Given the description of an element on the screen output the (x, y) to click on. 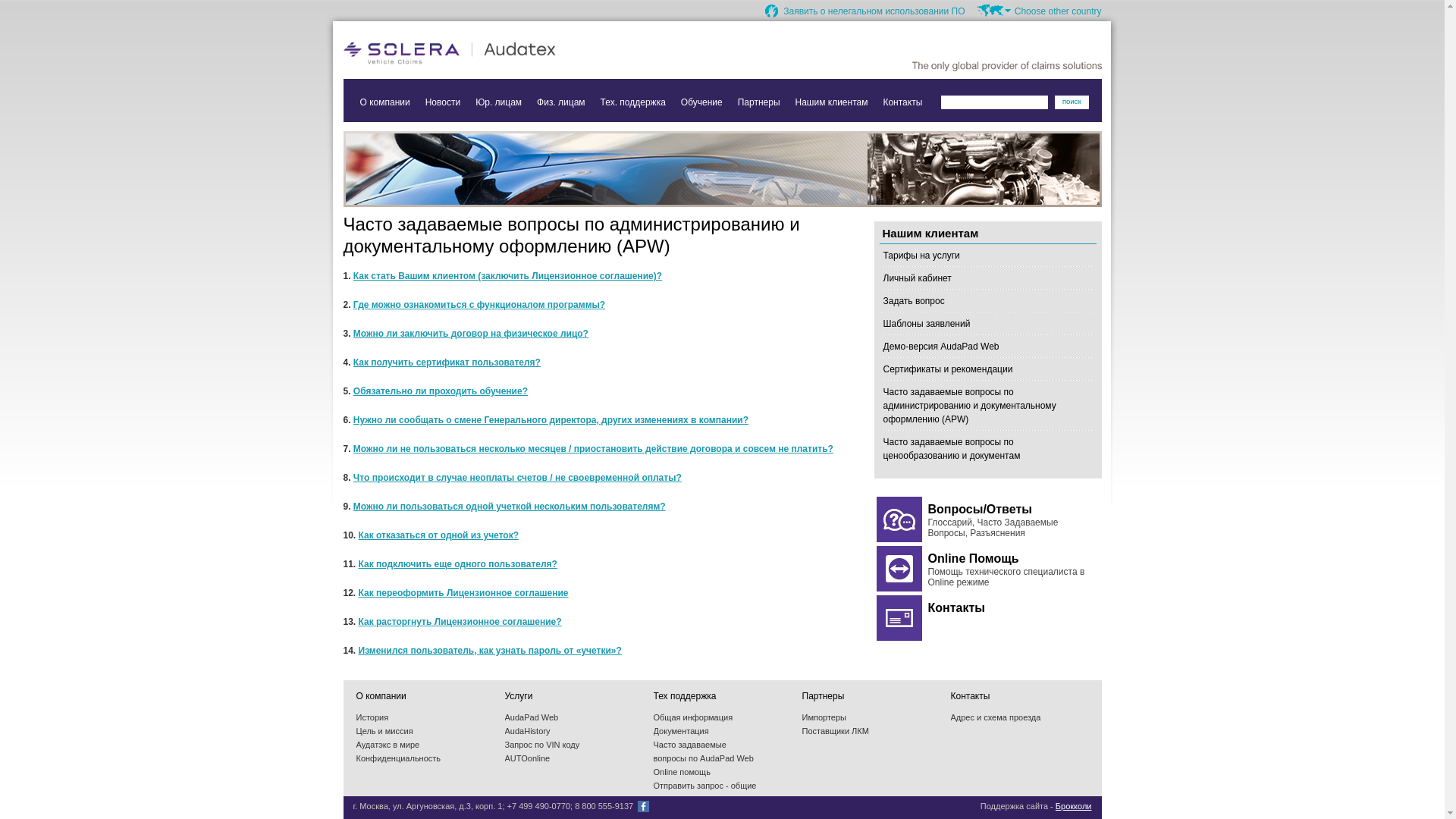
Choose other country Element type: text (1038, 10)
AudaHistory Element type: text (527, 730)
AudaPad Web Element type: text (531, 716)
AUTOonline Element type: text (527, 757)
Audatex Element type: hover (494, 53)
